Given the description of an element on the screen output the (x, y) to click on. 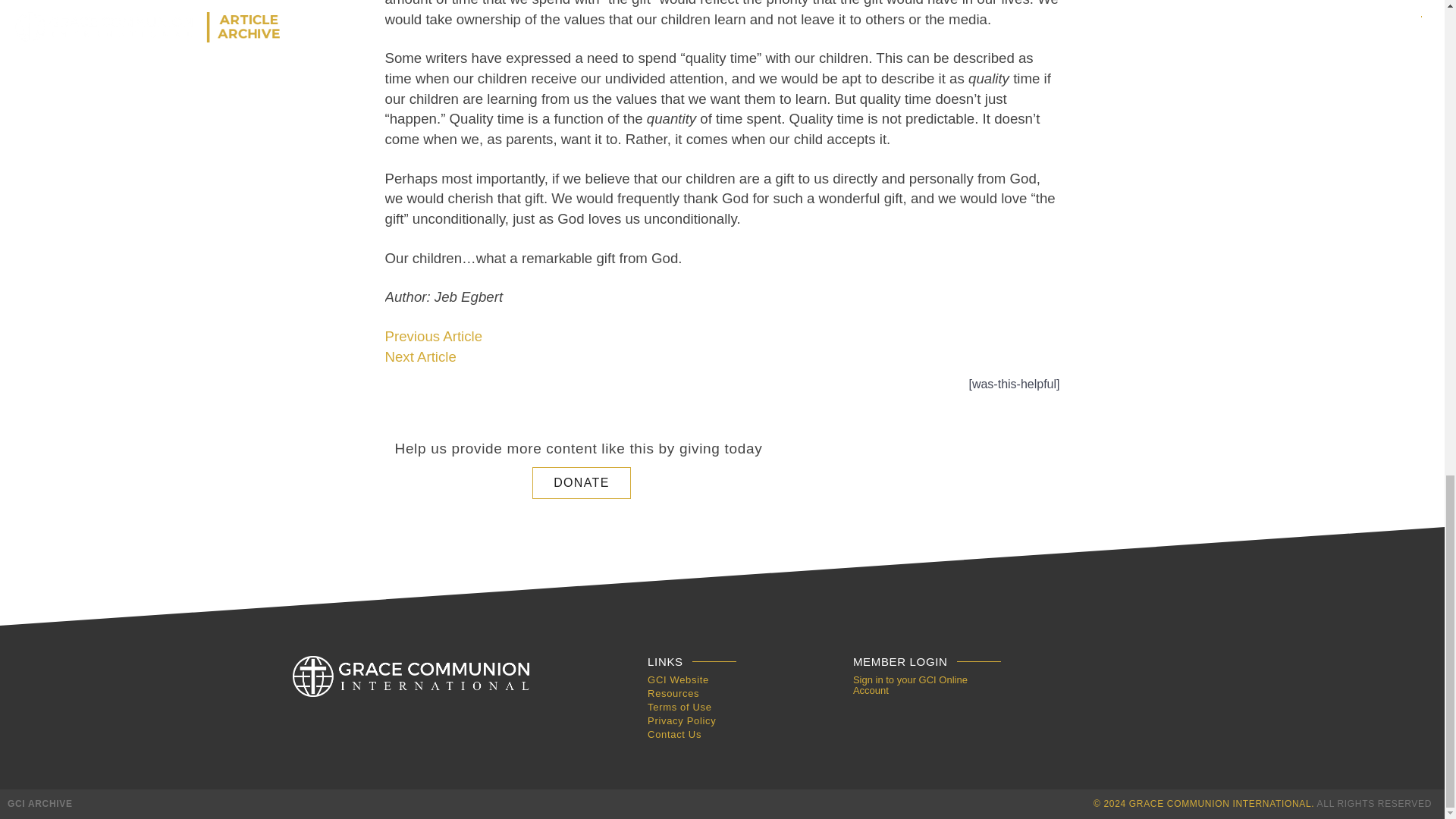
Grace Communion International (39, 803)
GCI Archive (410, 676)
